Given the description of an element on the screen output the (x, y) to click on. 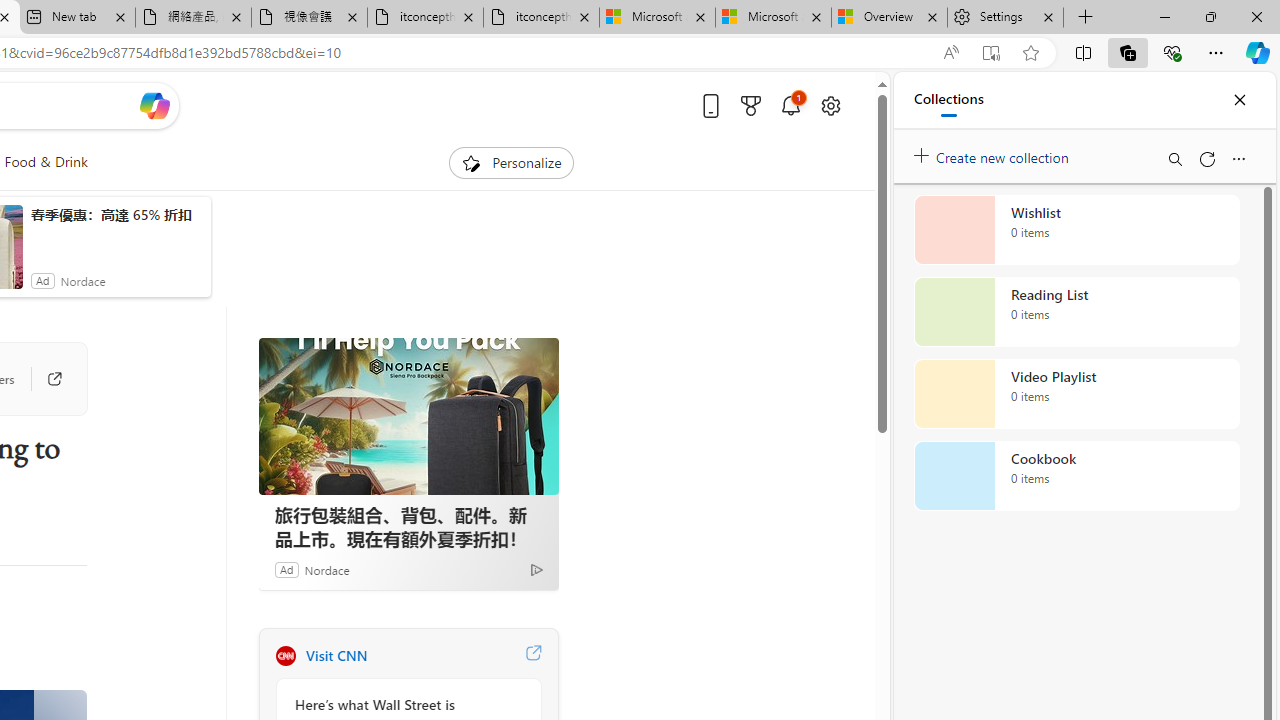
Open settings (830, 105)
Wishlist collection, 0 items (1076, 229)
Video Playlist collection, 0 items (1076, 394)
Notifications (790, 105)
Personalize (511, 162)
Enter Immersive Reader (F9) (991, 53)
More options menu (1238, 158)
